Given the description of an element on the screen output the (x, y) to click on. 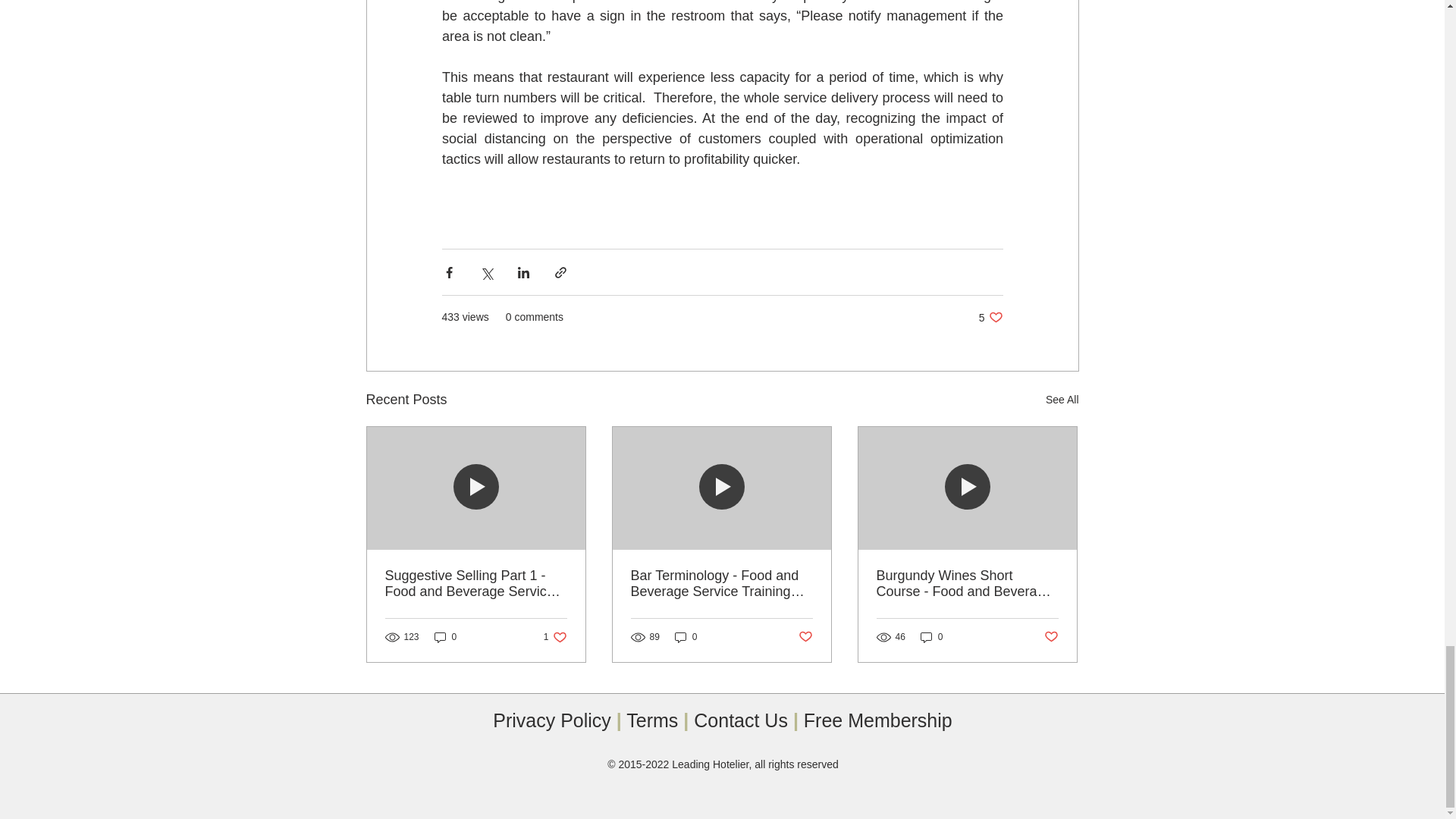
0 (931, 636)
Privacy Policy (555, 636)
0 (552, 720)
See All (685, 636)
Post not marked as liked (1061, 400)
Post not marked as liked (1050, 637)
0 (990, 317)
